Given the description of an element on the screen output the (x, y) to click on. 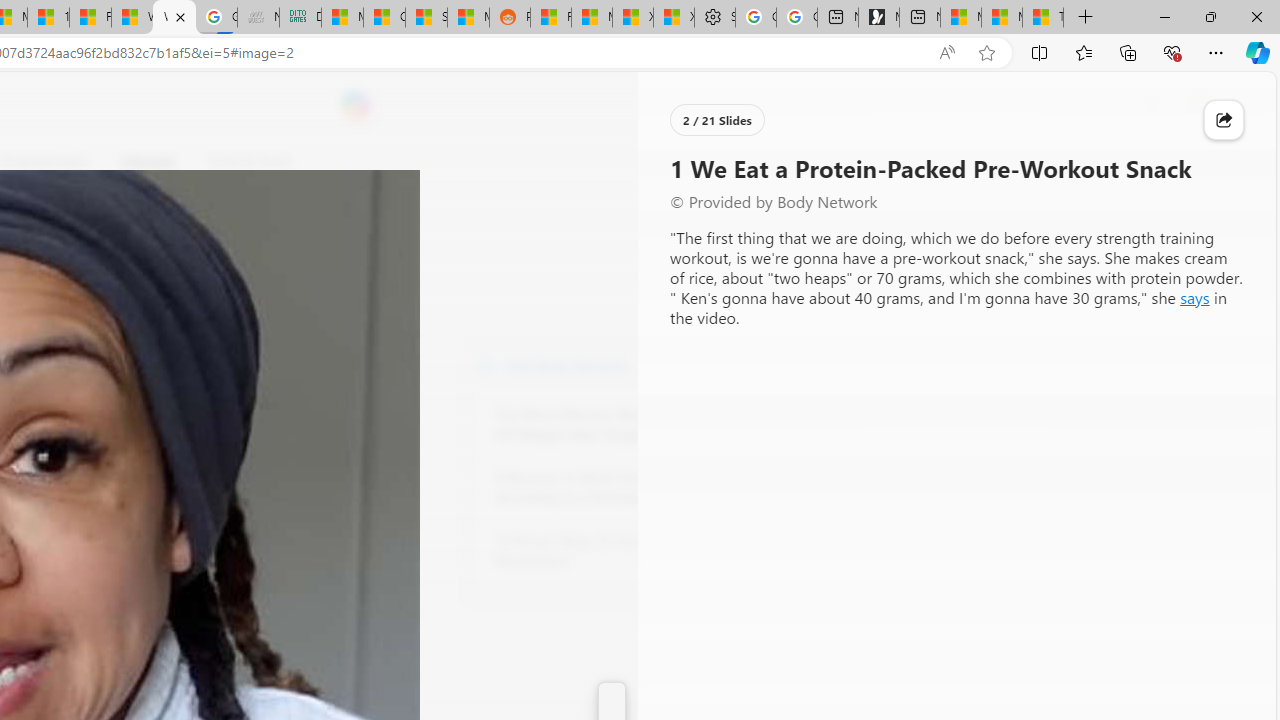
Body Network (486, 364)
12 Proven Ways To Increase Your Metabolism (603, 550)
Stocks - MSN (425, 17)
Microsoft rewards (1151, 105)
DITOGAMES AG Imprint (300, 17)
Food & Drink (249, 162)
